Given the description of an element on the screen output the (x, y) to click on. 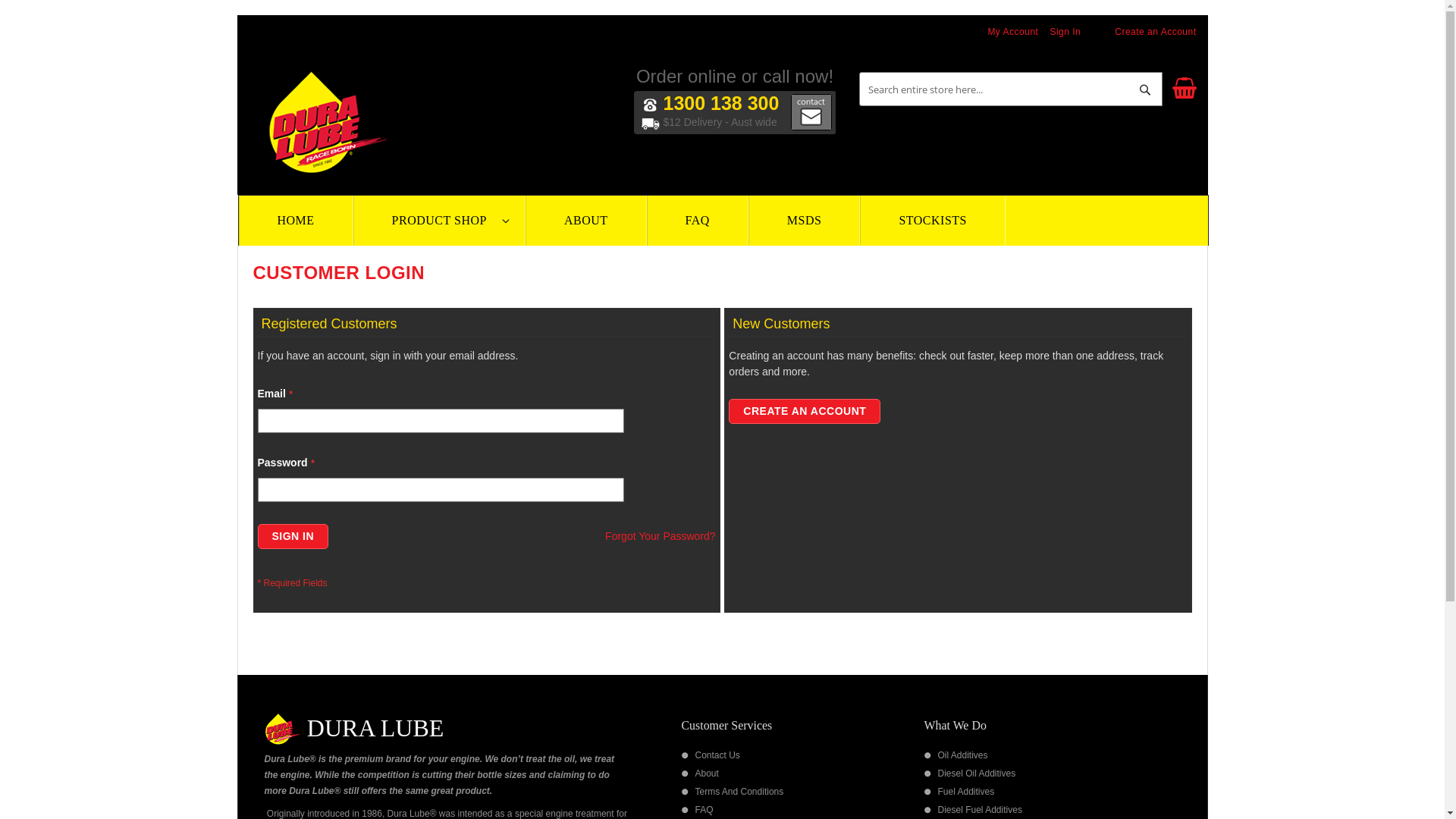
SIGN IN Element type: text (293, 536)
Twitter Follow Button Element type: hover (997, 124)
Contact Us Element type: text (716, 754)
Password Element type: hover (440, 489)
Oil Additives Element type: text (962, 754)
CREATE AN ACCOUNT Element type: text (804, 410)
MSDS Element type: text (804, 220)
Diesel Oil Additives Element type: text (976, 773)
FAQ Element type: text (703, 809)
Forgot Your Password? Element type: text (660, 536)
ABOUT Element type: text (585, 220)
Terms And Conditions Element type: text (738, 791)
My Account Element type: text (1012, 31)
Create an Account Element type: text (1154, 31)
FAQ Element type: text (697, 220)
Diesel Fuel Additives Element type: text (979, 809)
Fuel Additives Element type: text (965, 791)
STOCKISTS Element type: text (932, 220)
PRODUCT SHOP Element type: text (439, 220)
Search Element type: text (1145, 89)
Email Element type: hover (440, 420)
HOME Element type: text (295, 220)
Sign In Element type: text (1064, 31)
About Element type: text (706, 773)
Dura Lube Australia Element type: hover (326, 121)
